Given the description of an element on the screen output the (x, y) to click on. 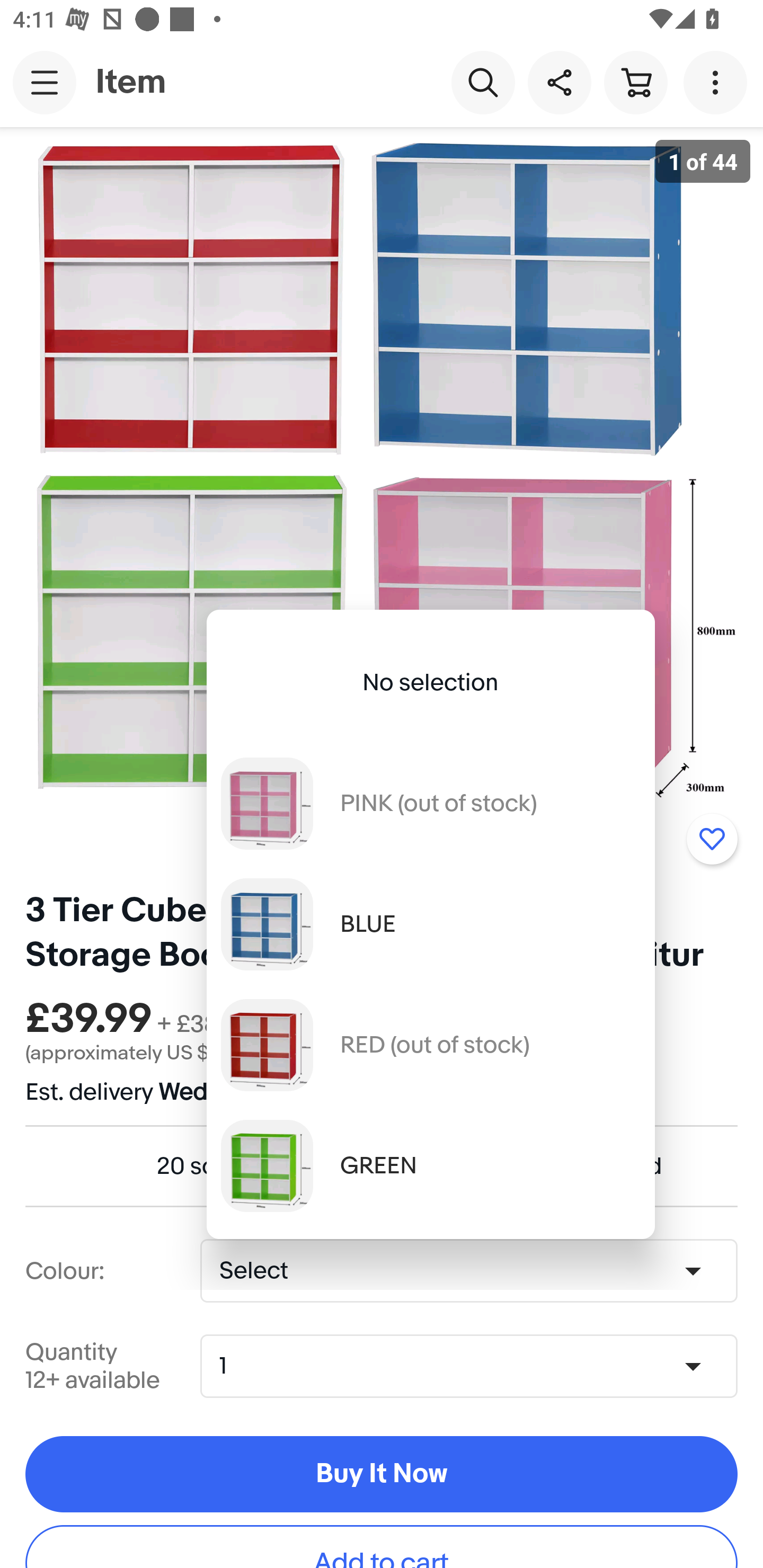
No selection (430, 682)
BLUE (430, 923)
GREEN (430, 1165)
